Given the description of an element on the screen output the (x, y) to click on. 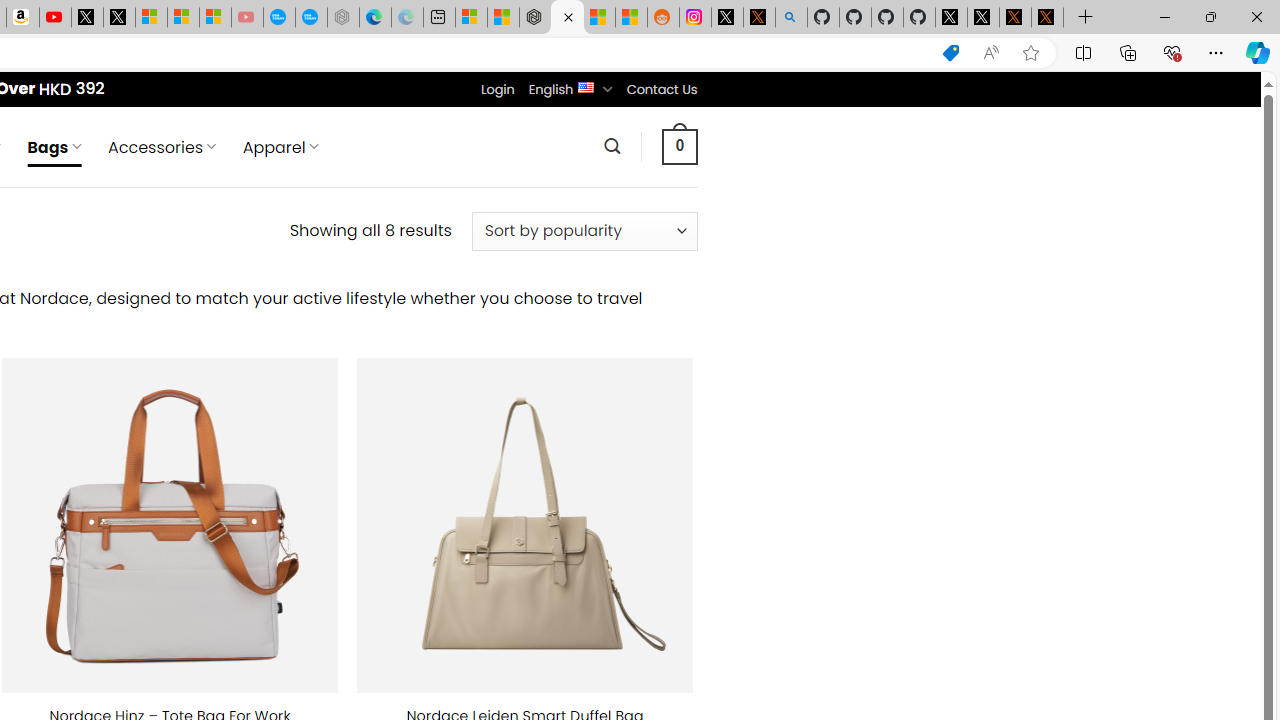
Login (497, 89)
The most popular Google 'how to' searches (310, 17)
X Privacy Policy (1047, 17)
github - Search (791, 17)
Nordace - Nordace has arrived Hong Kong - Sleeping (343, 17)
